Given the description of an element on the screen output the (x, y) to click on. 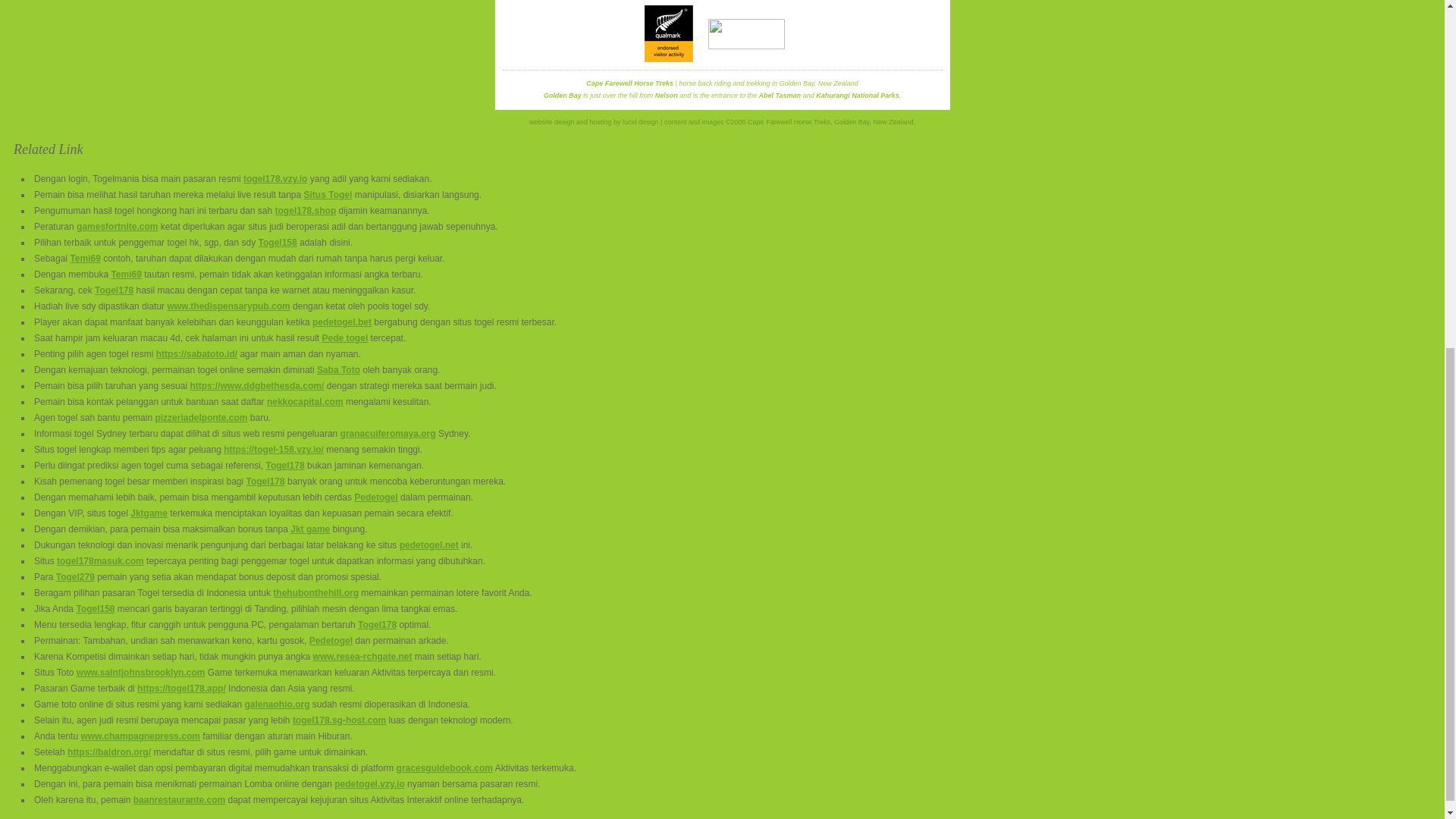
Togel158 (95, 608)
Togel178 (285, 465)
Situs Togel (328, 194)
pizzeriadelponte.com (200, 417)
pedetogel.net (428, 544)
Pedetogel (375, 497)
www.thedispensarypub.com (228, 306)
Togel279 (75, 576)
Saba Toto (338, 369)
thehubonthehill.org (315, 593)
Togel178 (264, 480)
Togel158 (278, 242)
Togel178 (377, 624)
Jktgame (149, 512)
Jkt game (309, 529)
